Given the description of an element on the screen output the (x, y) to click on. 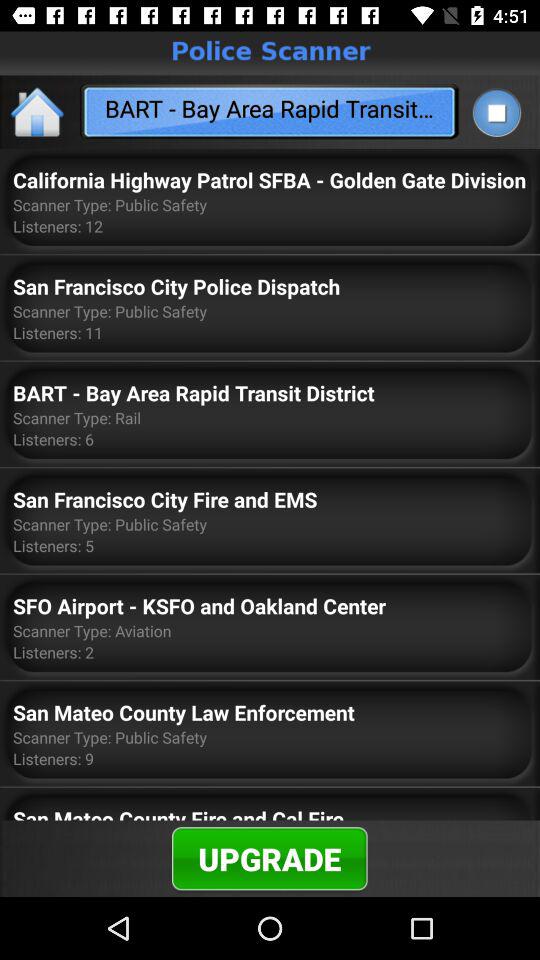
tap the item to the right of the bart bay area app (496, 111)
